Given the description of an element on the screen output the (x, y) to click on. 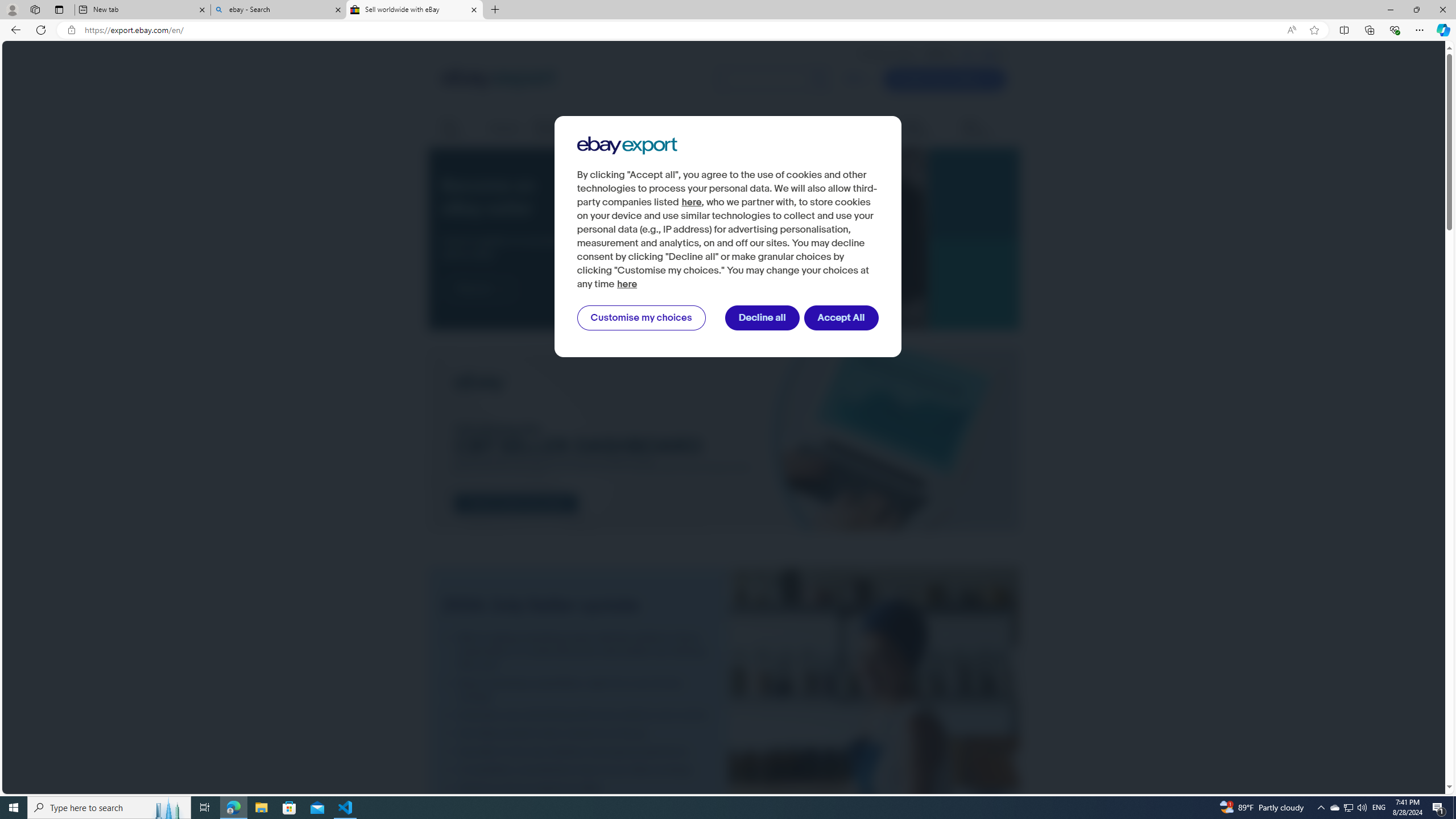
Say hello to the new desktop messaging experience (578, 751)
IN (967, 53)
Find out (480, 288)
Fees, taxes & payments (714, 128)
More marketing capabilities, right from your Active Listings (578, 690)
CBT Web Banner.jpeg (723, 441)
Become an eBay seller (756, 239)
Decline all (762, 317)
Class: search-input__btn (819, 79)
Address and search bar (680, 29)
